Given the description of an element on the screen output the (x, y) to click on. 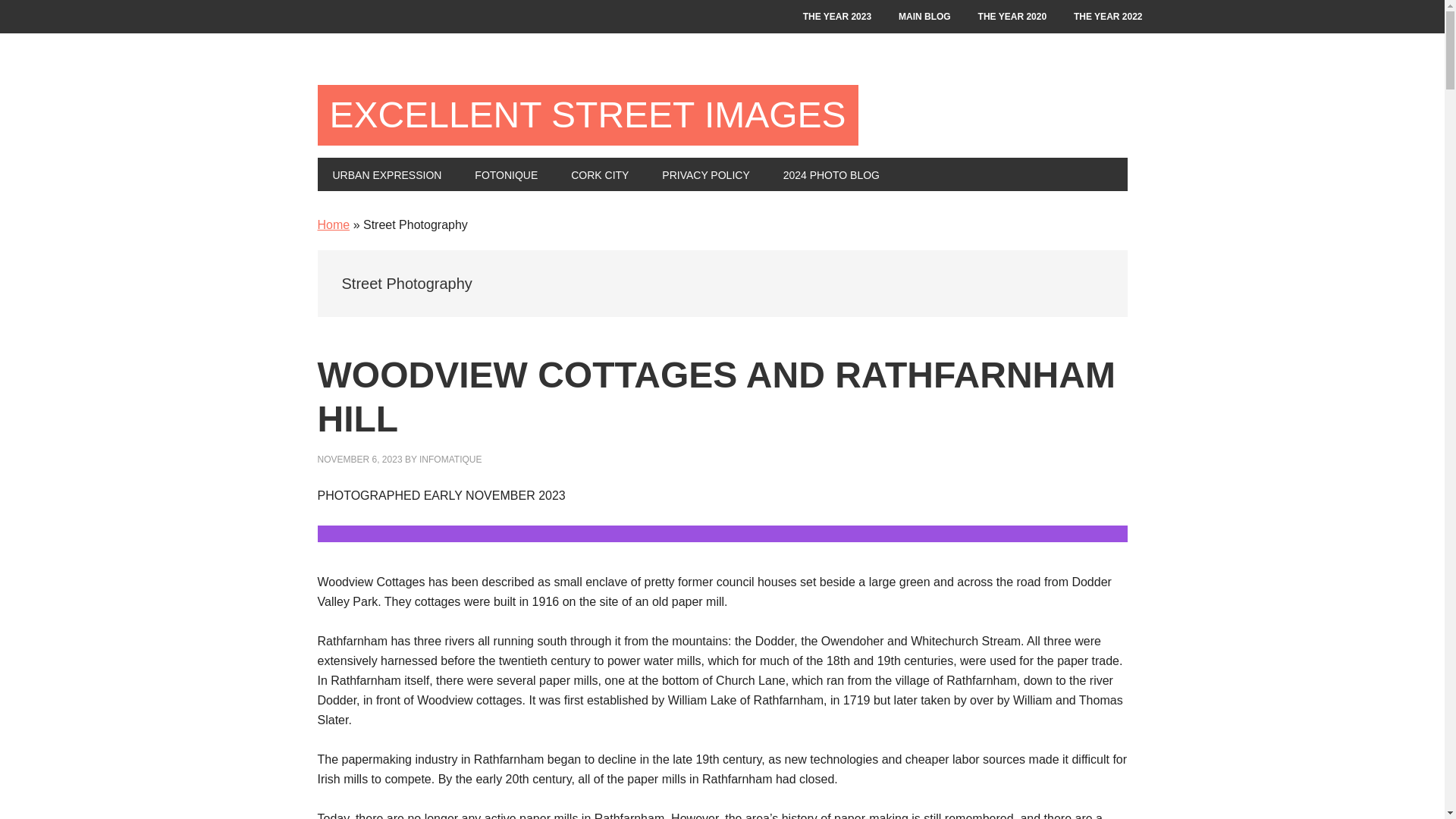
MAIN BLOG (924, 16)
THE YEAR 2022 (1107, 16)
THE YEAR 2020 (1012, 16)
THE YEAR 2023 (836, 16)
